Given the description of an element on the screen output the (x, y) to click on. 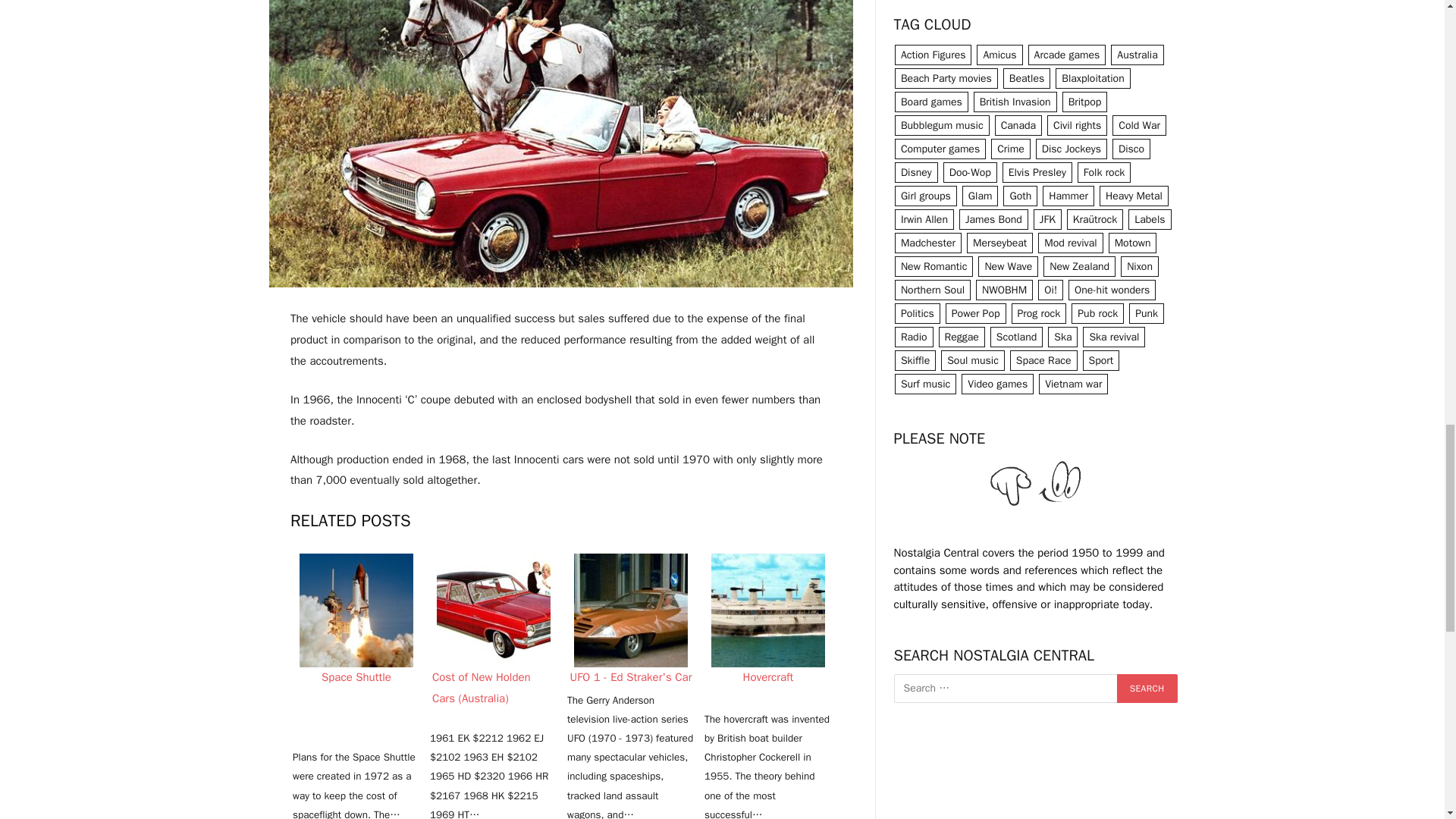
Search (1146, 688)
Space Shuttle (356, 610)
Search (1146, 688)
UFO 1 - Ed Straker's Car (630, 610)
